Given the description of an element on the screen output the (x, y) to click on. 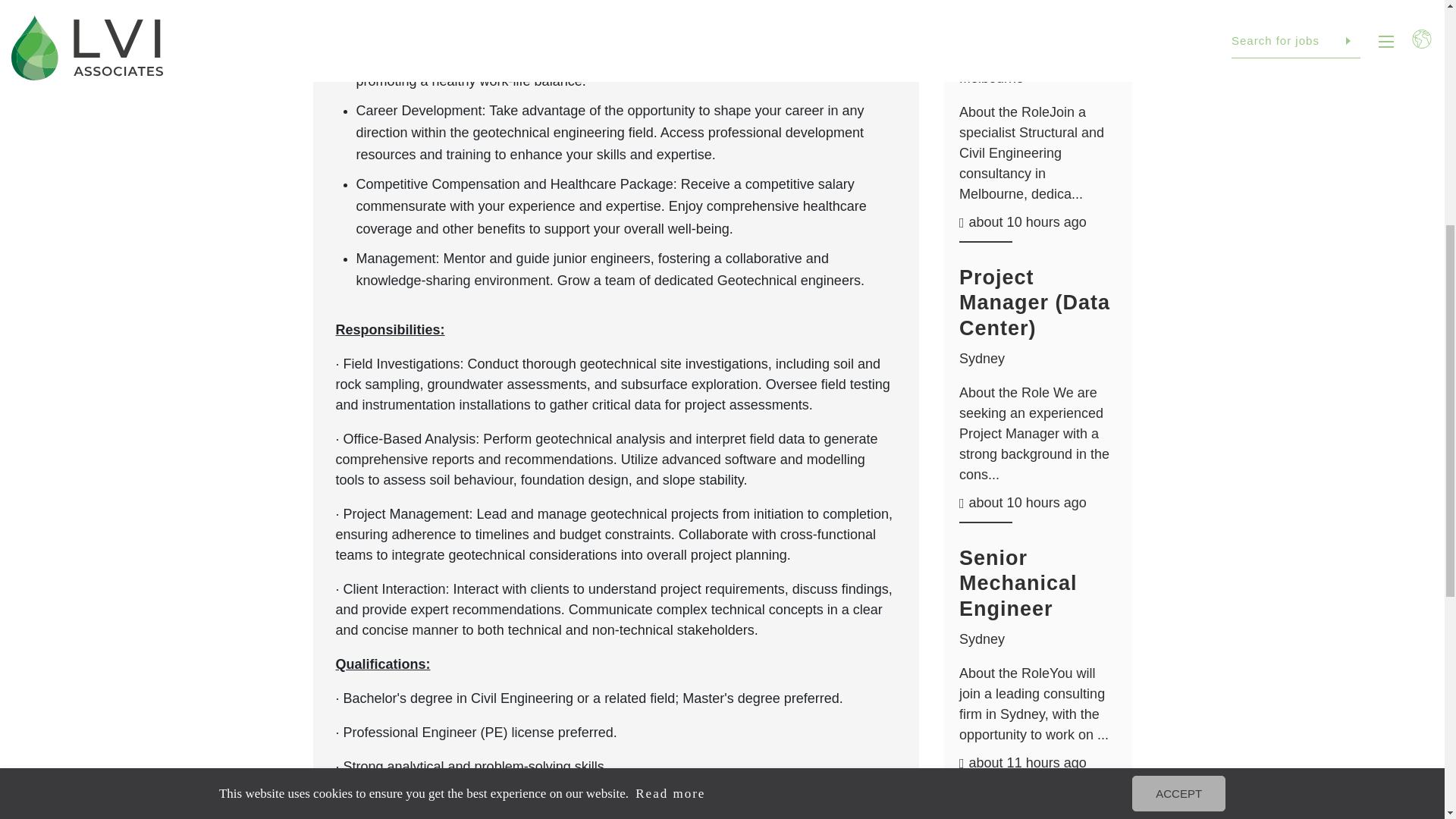
Go to the Homepage (79, 104)
LinkedIn (1256, 243)
YouTube (1359, 243)
ACCEPT (1193, 321)
Instagram (1324, 243)
Twitter (1291, 243)
Read more (683, 320)
Facebook (1222, 243)
WeChat (1393, 243)
